Given the description of an element on the screen output the (x, y) to click on. 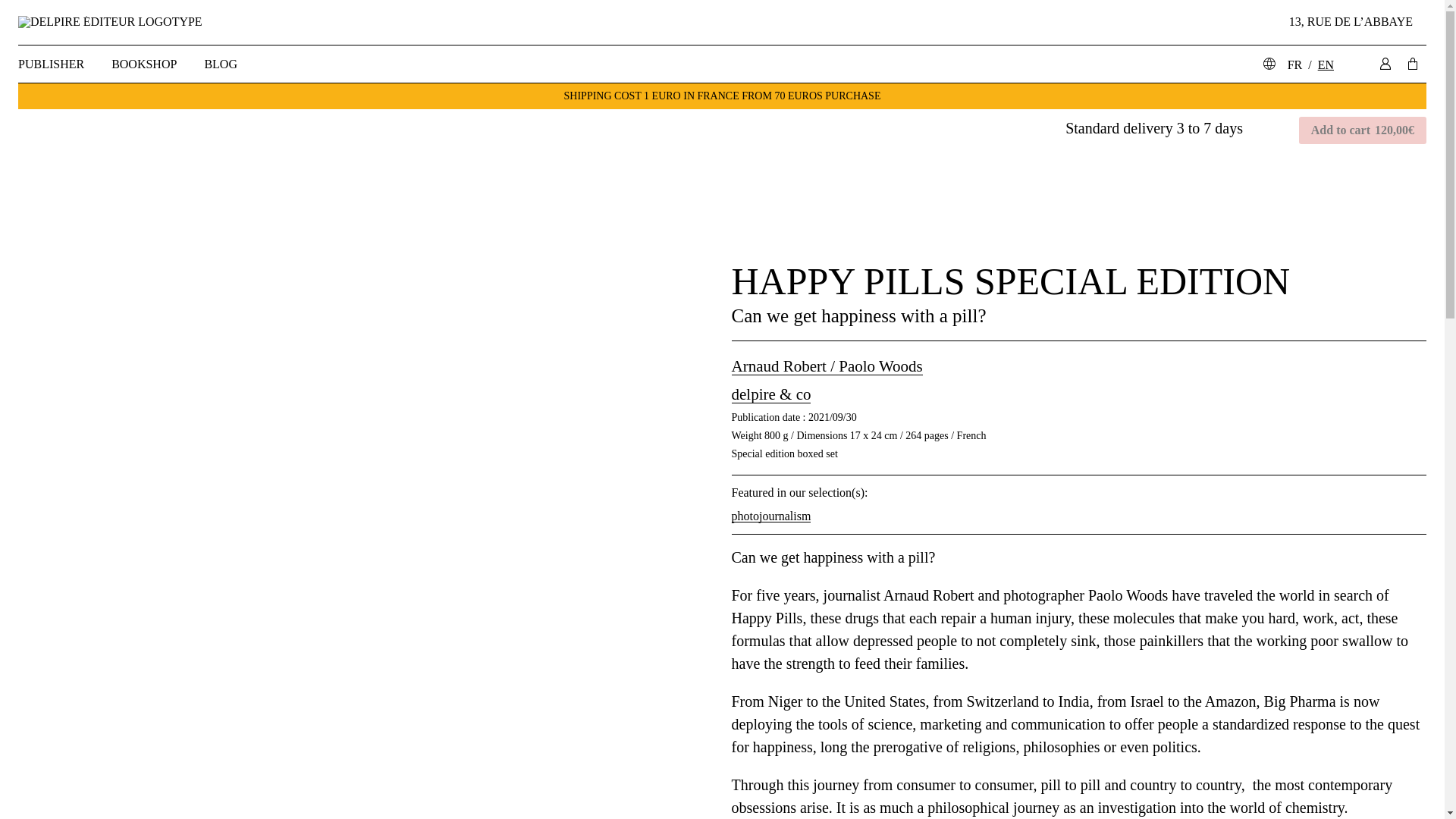
BOOKSHOP (143, 63)
FR (1295, 63)
photojournalism (770, 515)
EN (1325, 63)
BLOG (220, 63)
PUBLISHER (57, 63)
